Given the description of an element on the screen output the (x, y) to click on. 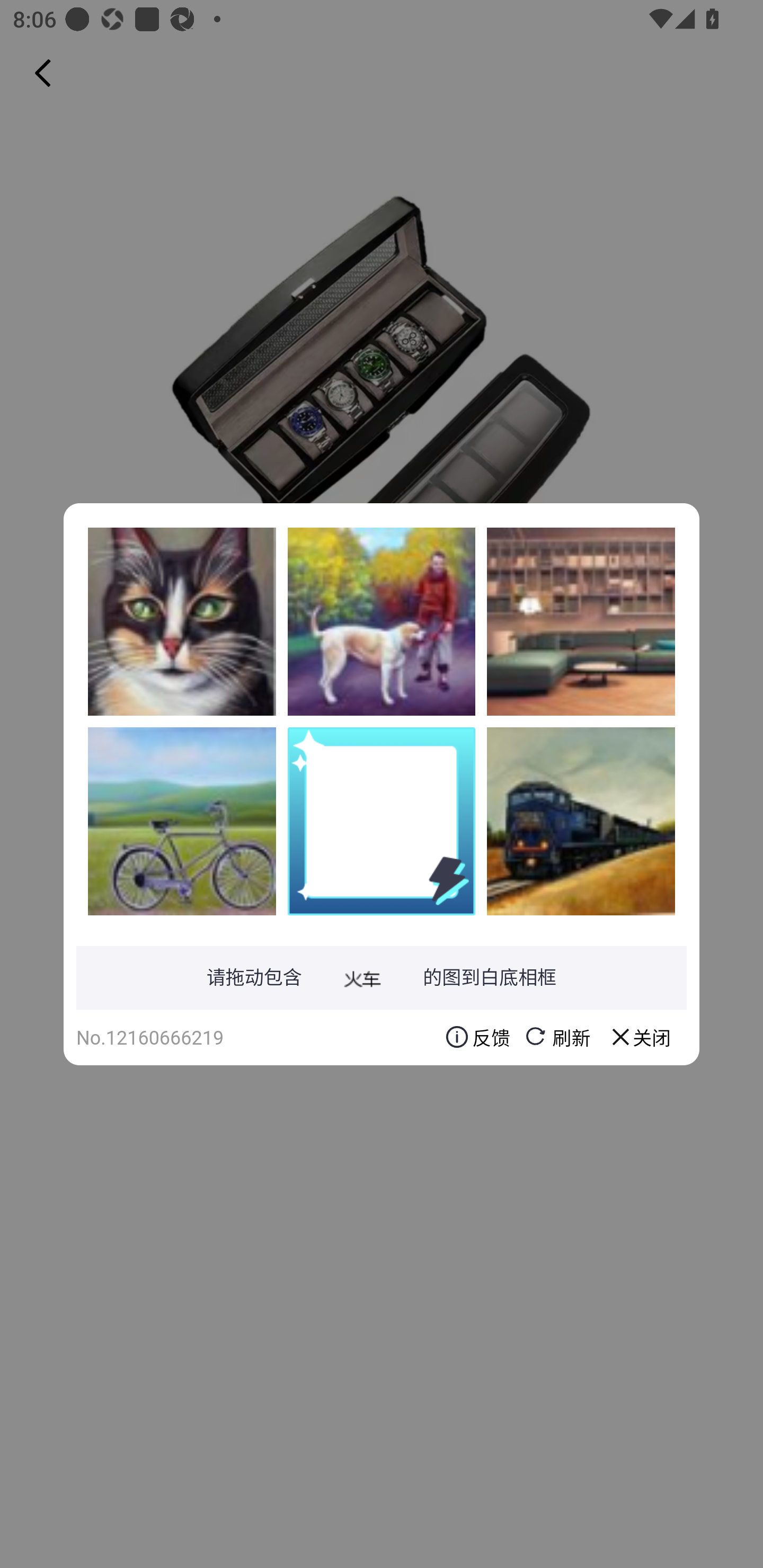
EHXL51C9NbJlGVX4gEb1+E2ztCxcw319+NguR4WBnoQHf91z (181, 621)
